Given the description of an element on the screen output the (x, y) to click on. 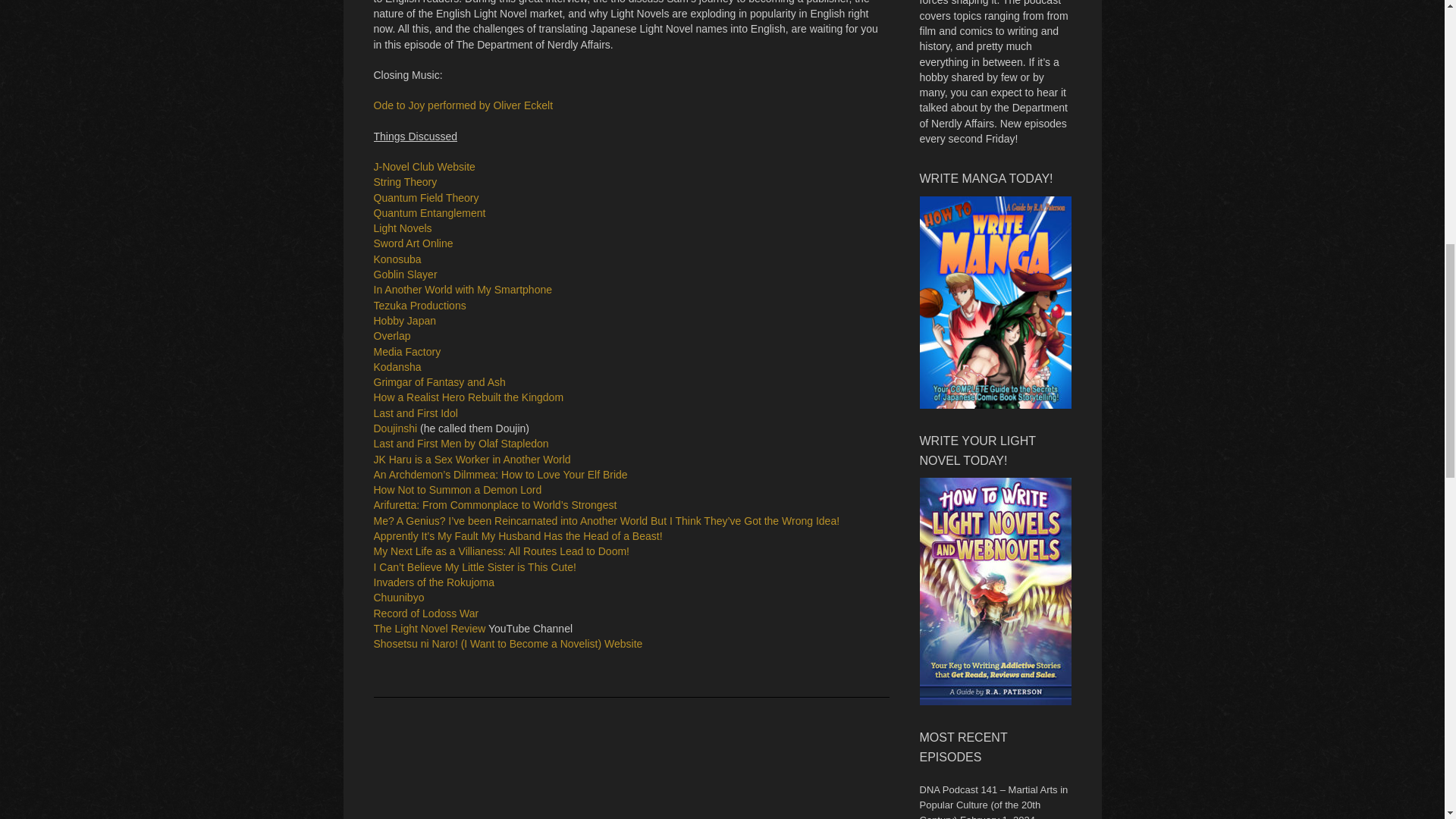
Ode to Joy performed by Oliver Eckelt (462, 105)
